Given the description of an element on the screen output the (x, y) to click on. 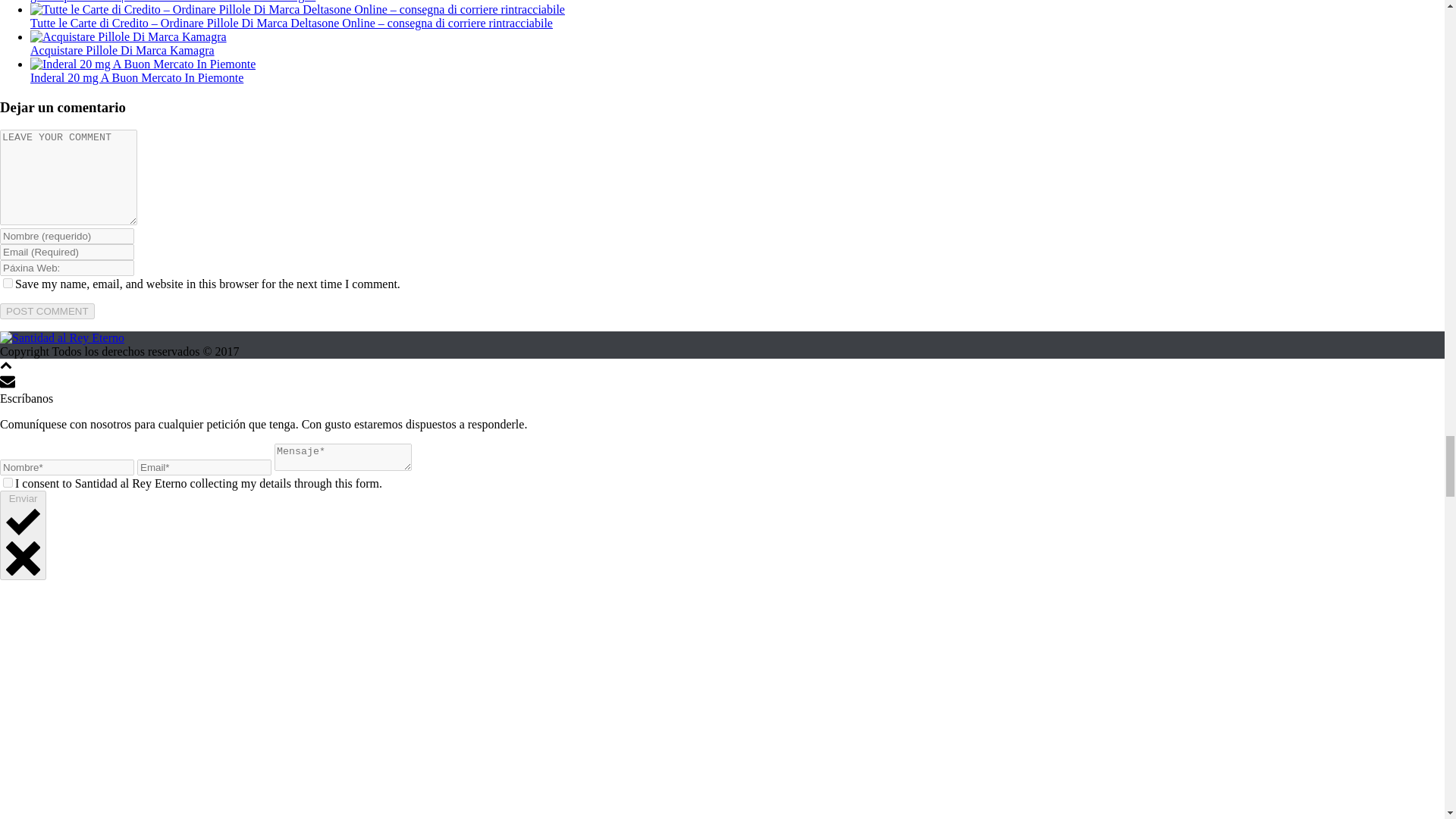
POST COMMENT (47, 311)
yes (7, 283)
Santidad al Rey Eterno (61, 337)
